Given the description of an element on the screen output the (x, y) to click on. 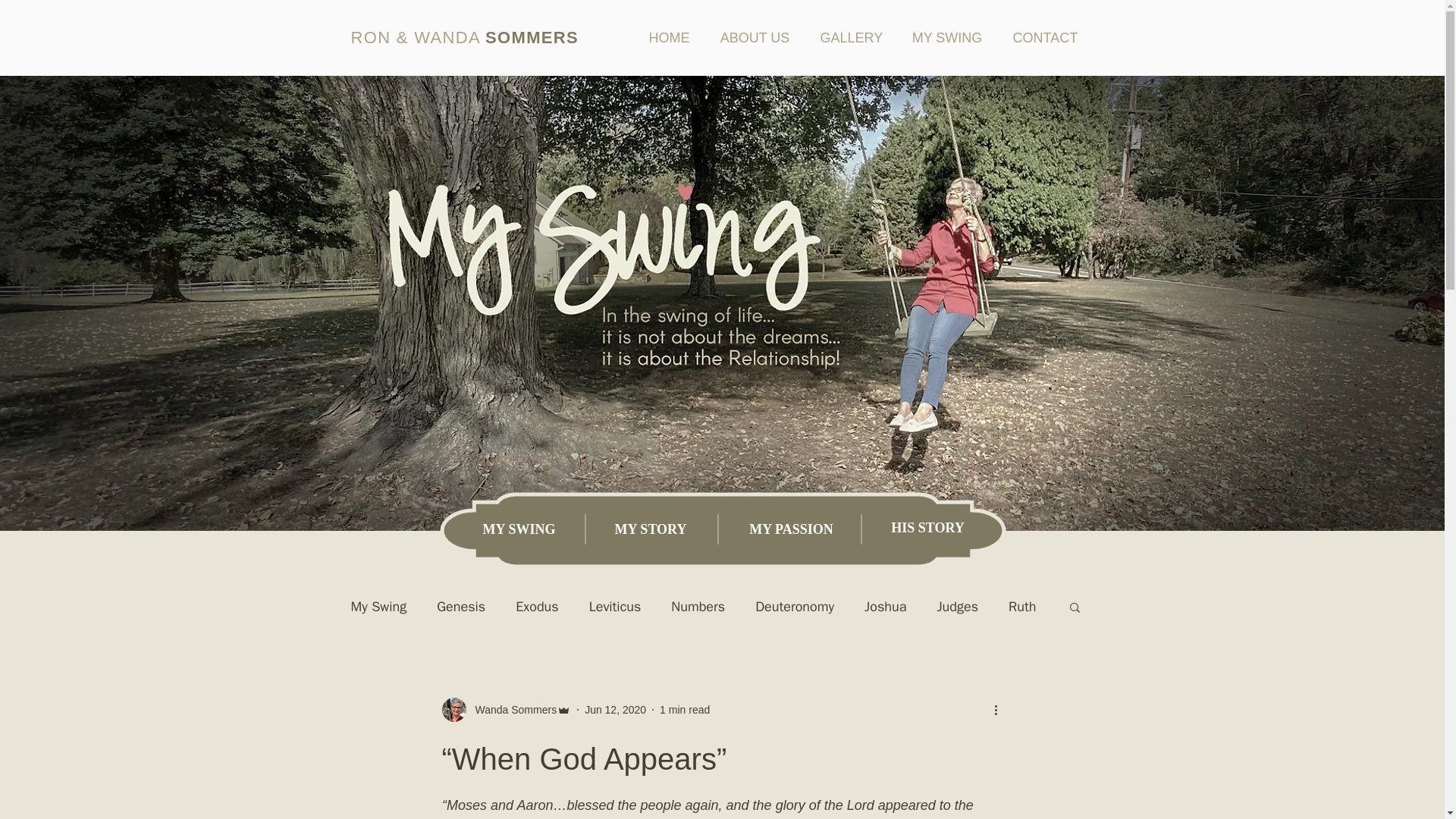
Numbers (698, 606)
My Swing (378, 606)
ABOUT US (754, 36)
Judges (957, 606)
HIS STORY (927, 528)
CONTACT (1045, 36)
GALLERY (850, 36)
MY STORY (649, 530)
1 min read (684, 709)
Joshua (884, 606)
Deuteronomy (794, 606)
Leviticus (615, 606)
Exodus (536, 606)
Genesis (460, 606)
MY SWING (519, 530)
